Given the description of an element on the screen output the (x, y) to click on. 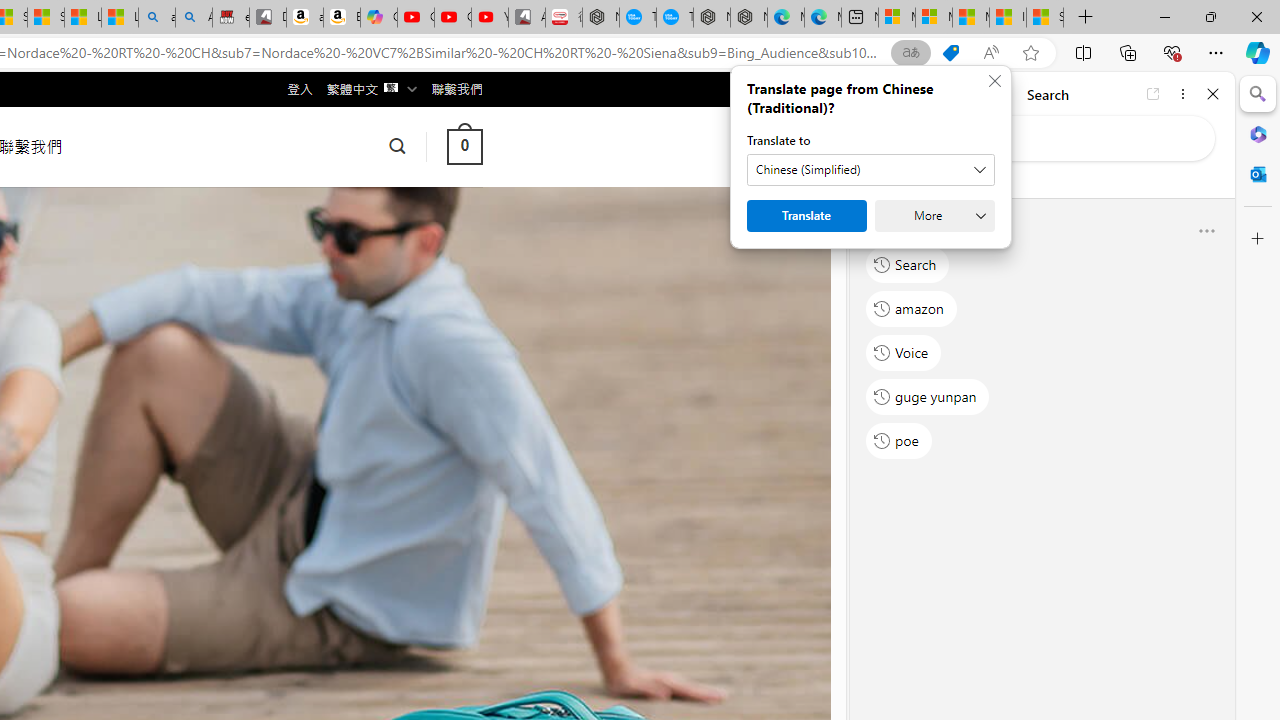
amazon.in/dp/B0CX59H5W7/?tag=gsmcom05-21 (304, 17)
Nordace - Nordace has arrived Hong Kong (748, 17)
I Gained 20 Pounds of Muscle in 30 Days! | Watch (1007, 17)
Translate to (870, 169)
Amazon Echo Dot PNG - Search Images (193, 17)
This site scope (936, 180)
